Given the description of an element on the screen output the (x, y) to click on. 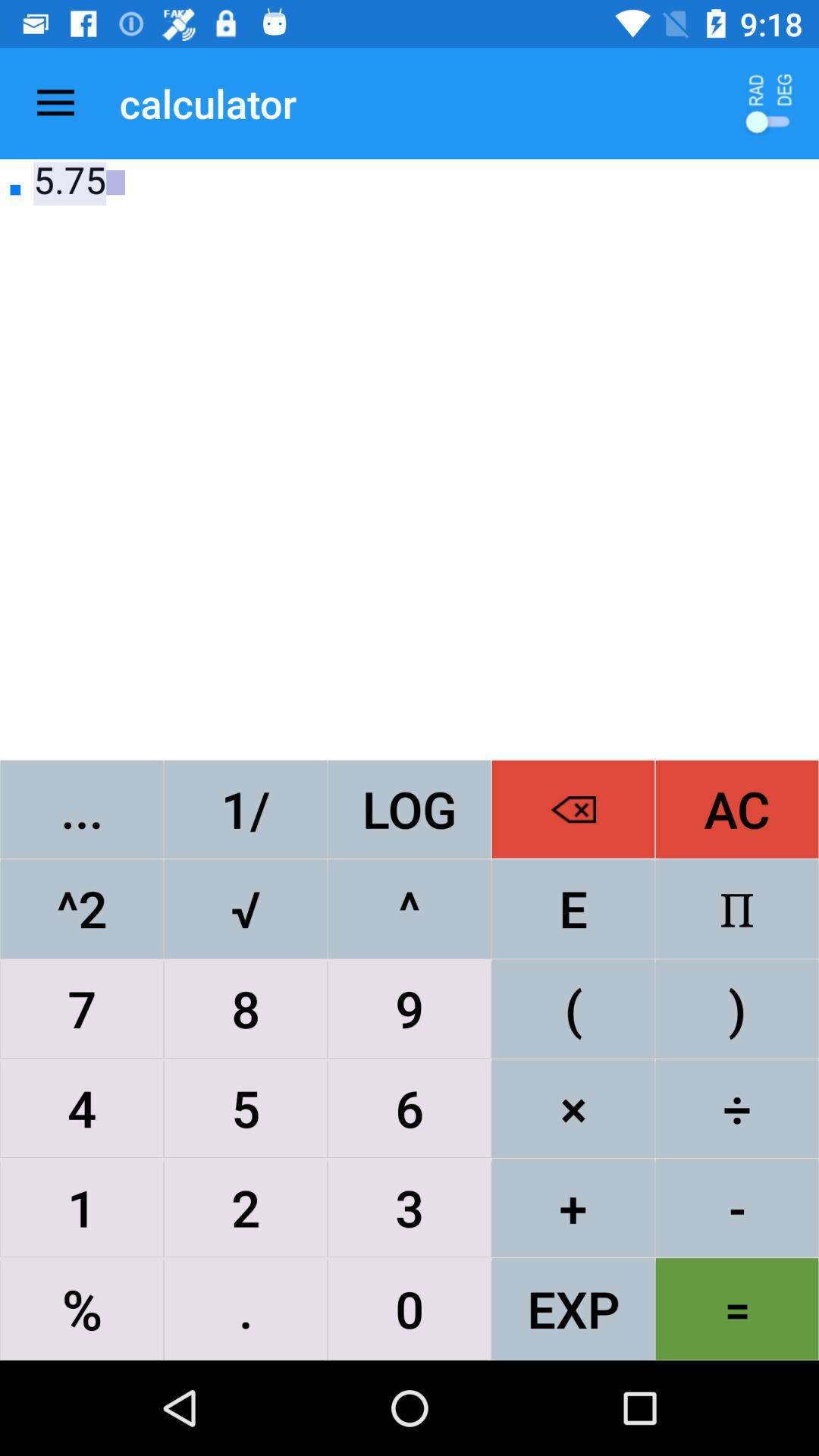
press the icon above the ^ icon (572, 809)
